Given the description of an element on the screen output the (x, y) to click on. 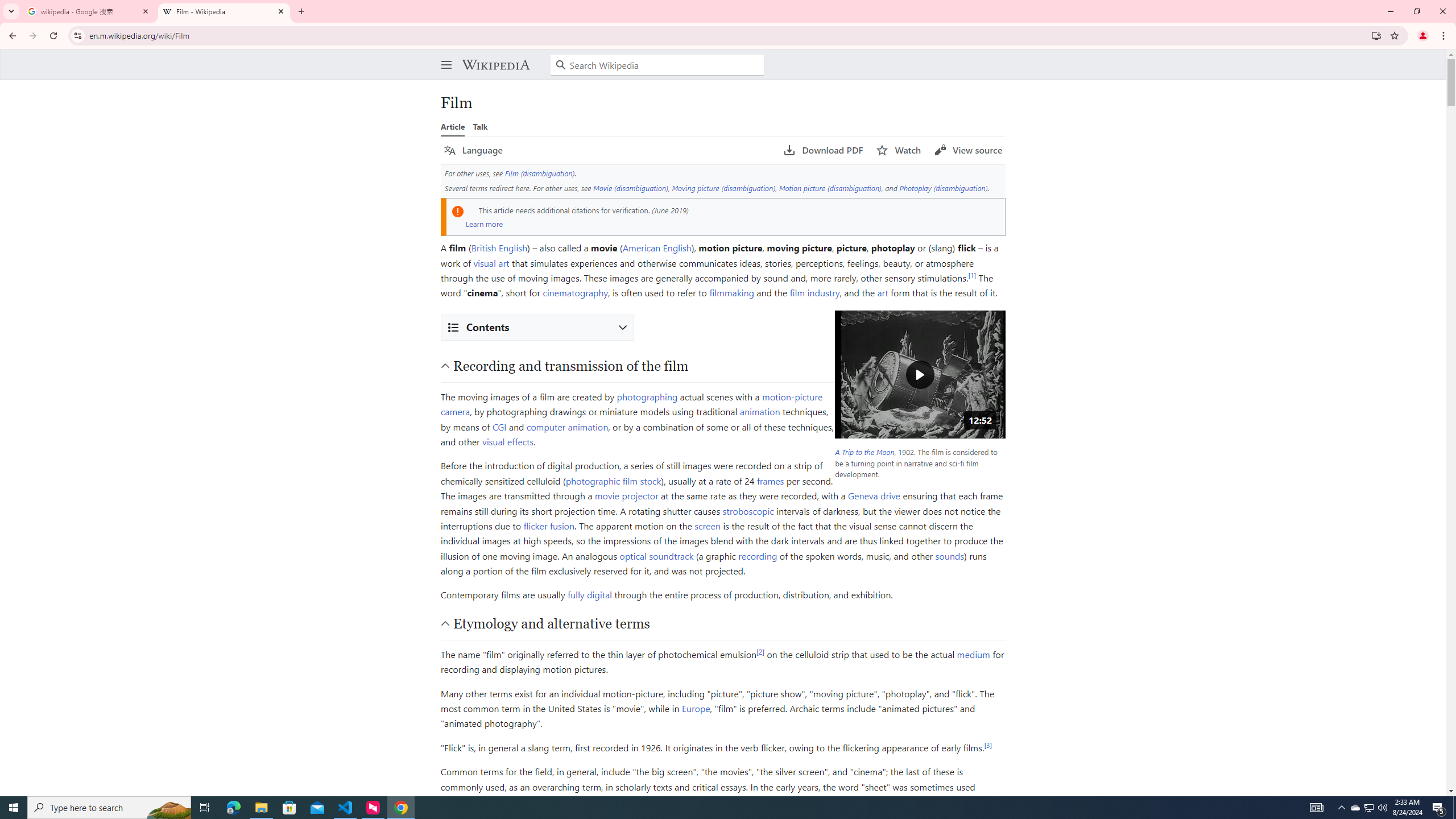
Watch (898, 149)
motion-picture camera (630, 403)
Talk (480, 126)
Motion picture (disambiguation) (829, 188)
photographic film (600, 480)
animation (759, 411)
visual effects (507, 440)
film industry (814, 292)
filmmaking (731, 292)
art (882, 292)
